Given the description of an element on the screen output the (x, y) to click on. 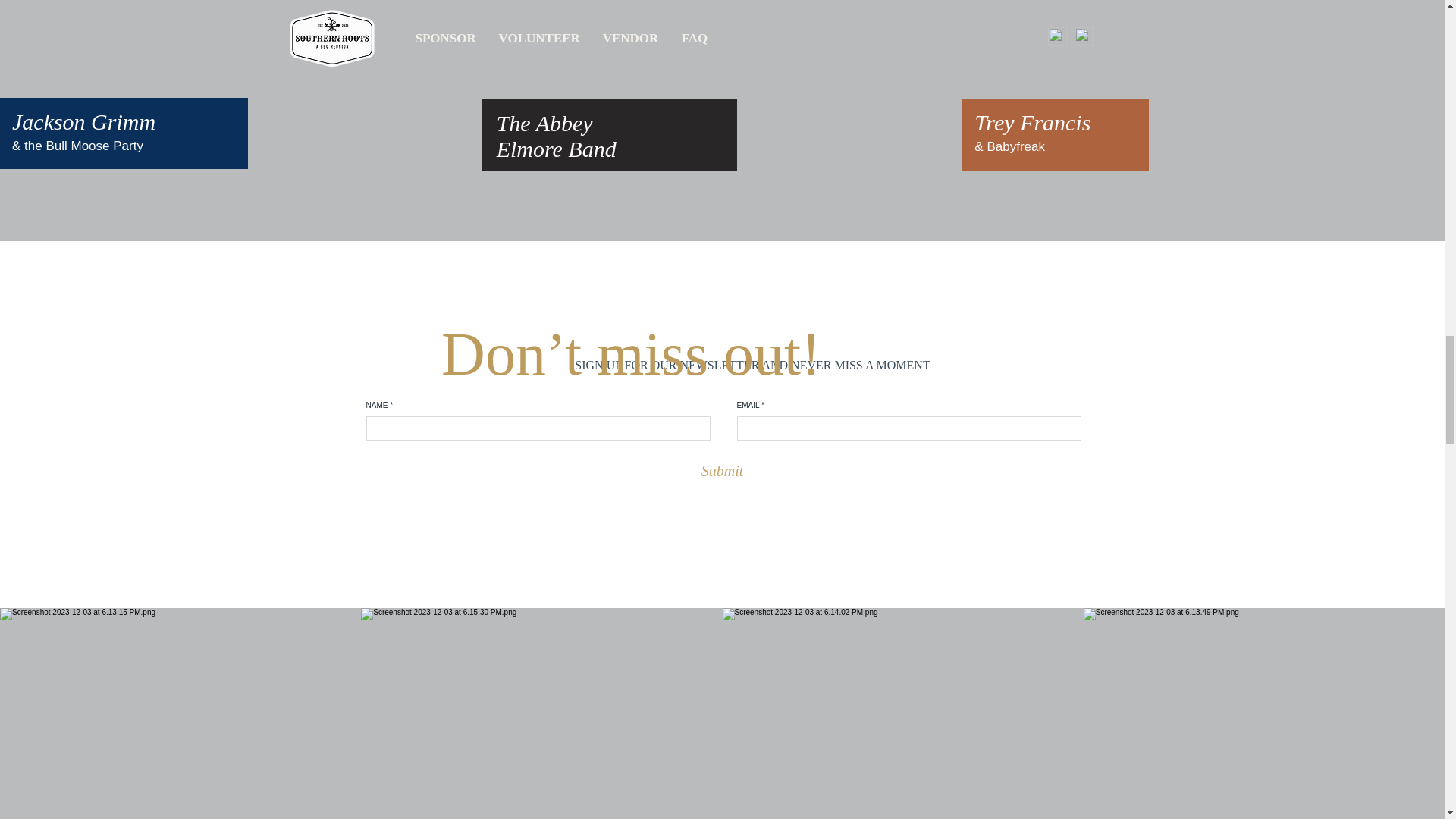
Submit (722, 470)
Trey Francis (1032, 122)
Jackson Grimm (83, 121)
The Abbey Elmore Band (555, 135)
